Given the description of an element on the screen output the (x, y) to click on. 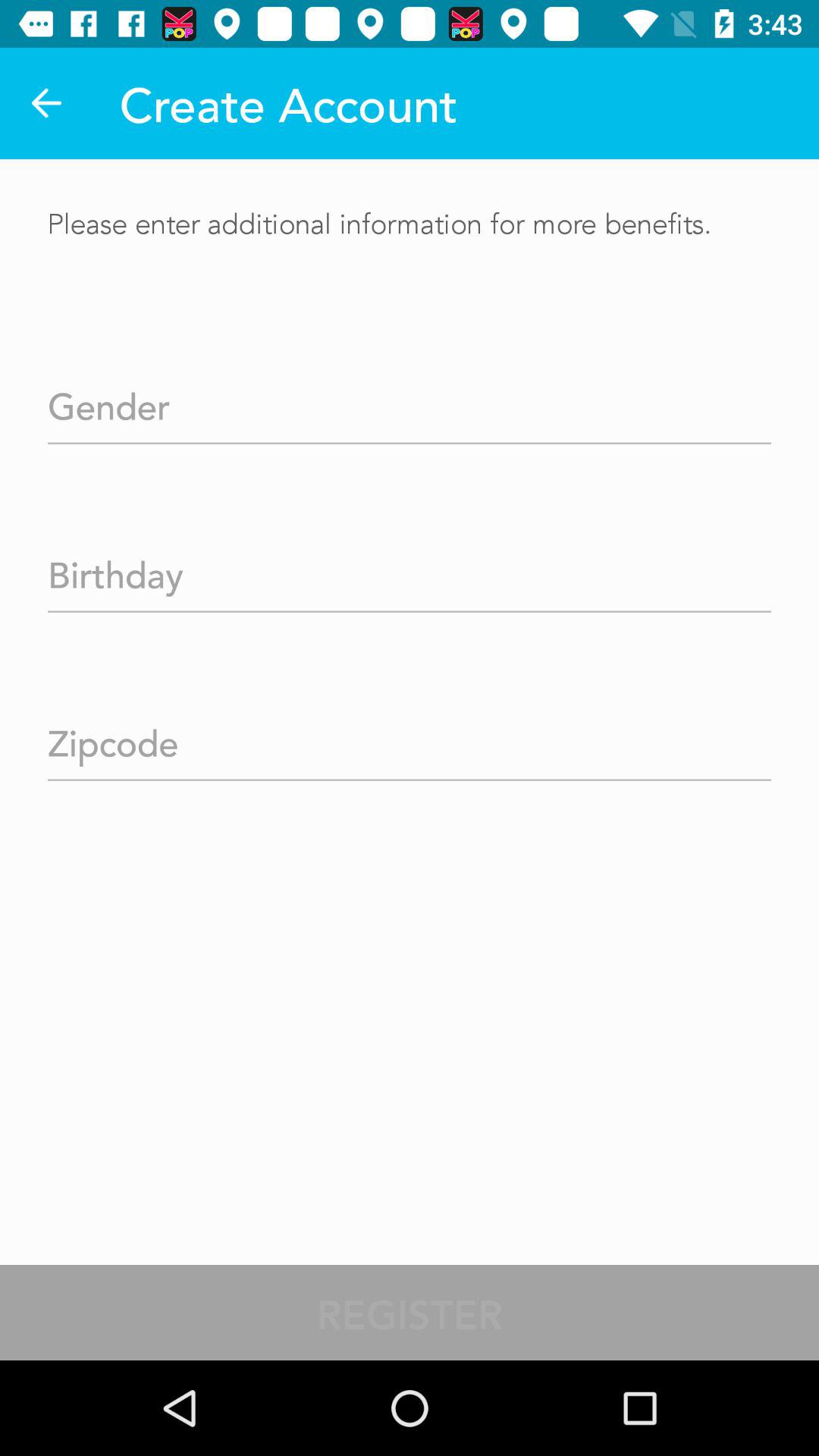
enter your birthday (409, 569)
